Given the description of an element on the screen output the (x, y) to click on. 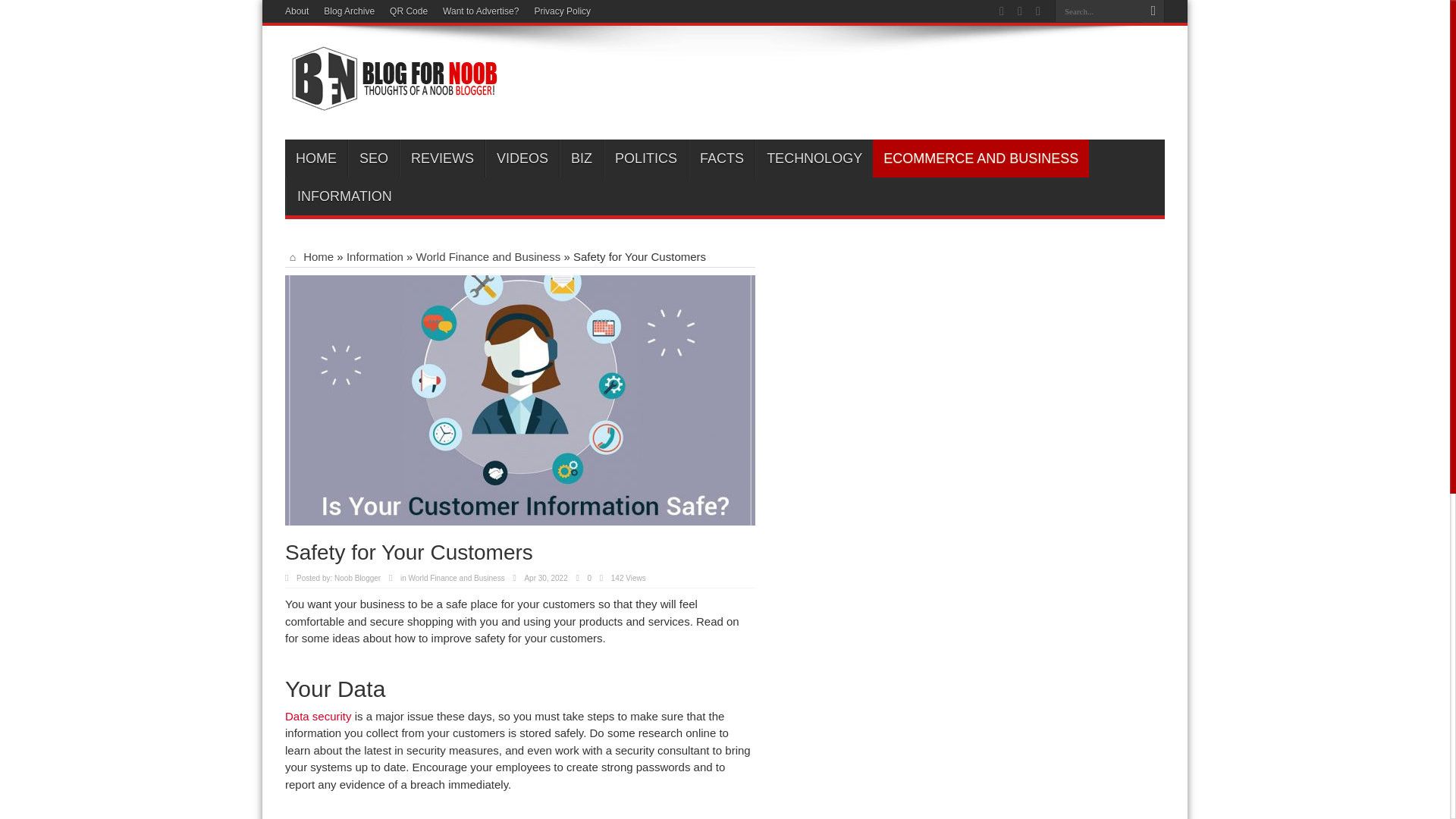
BIZ (580, 158)
Want to Advertise? (480, 11)
Blog For Noob (391, 101)
FACTS (721, 158)
POLITICS (645, 158)
Search (1152, 11)
Search... (1097, 11)
TECHNOLOGY (813, 158)
QR Code (409, 11)
VIDEOS (521, 158)
